Given the description of an element on the screen output the (x, y) to click on. 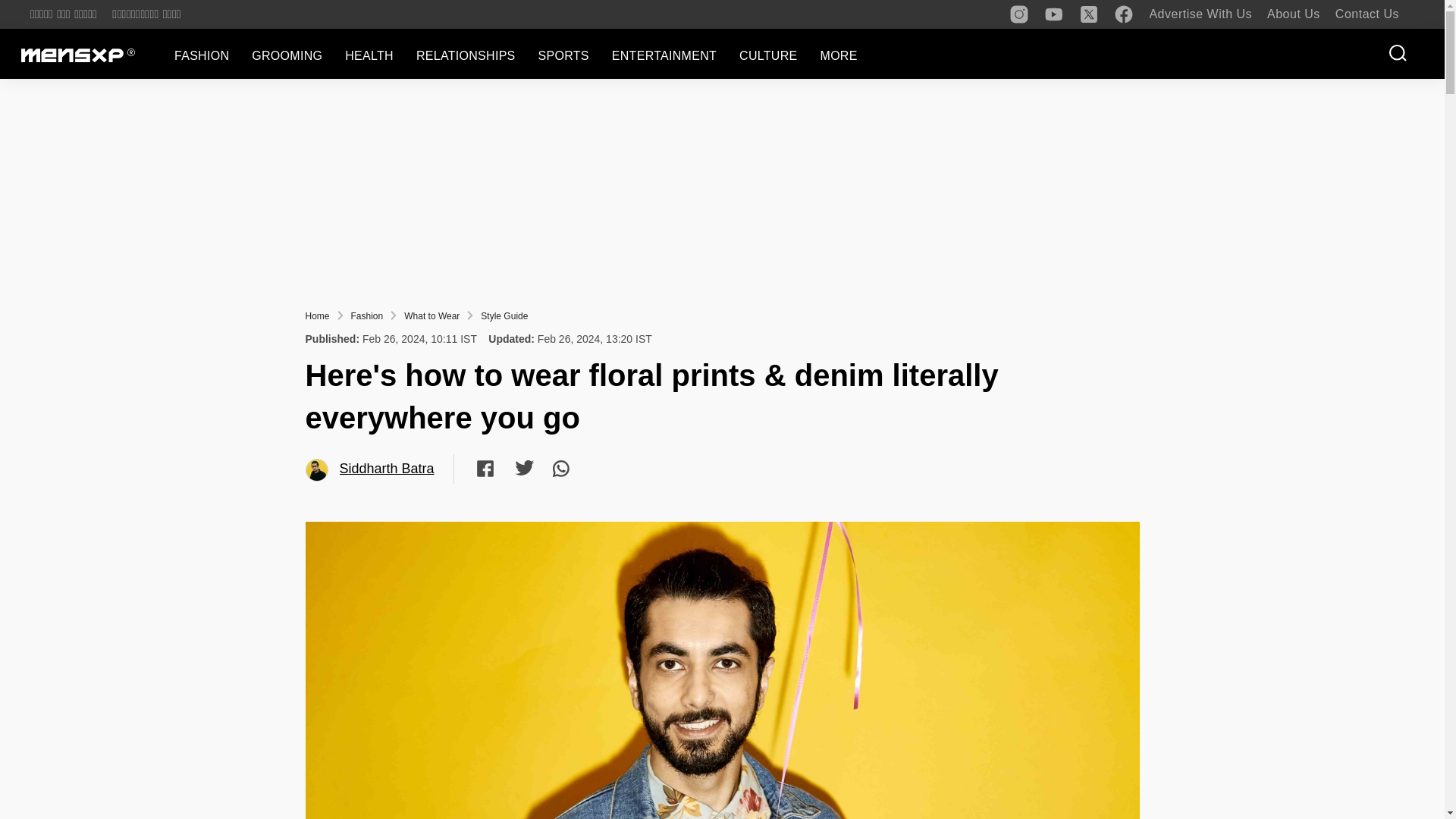
Style Guide (503, 316)
Advertise With Us (1200, 13)
What to Wear (432, 316)
About Us (1293, 13)
About Us (1293, 13)
Fashion (367, 316)
Contact Us (1367, 13)
Siddharth Batra (317, 470)
Contact Us  (1367, 13)
Advertise With Us (1200, 13)
